Given the description of an element on the screen output the (x, y) to click on. 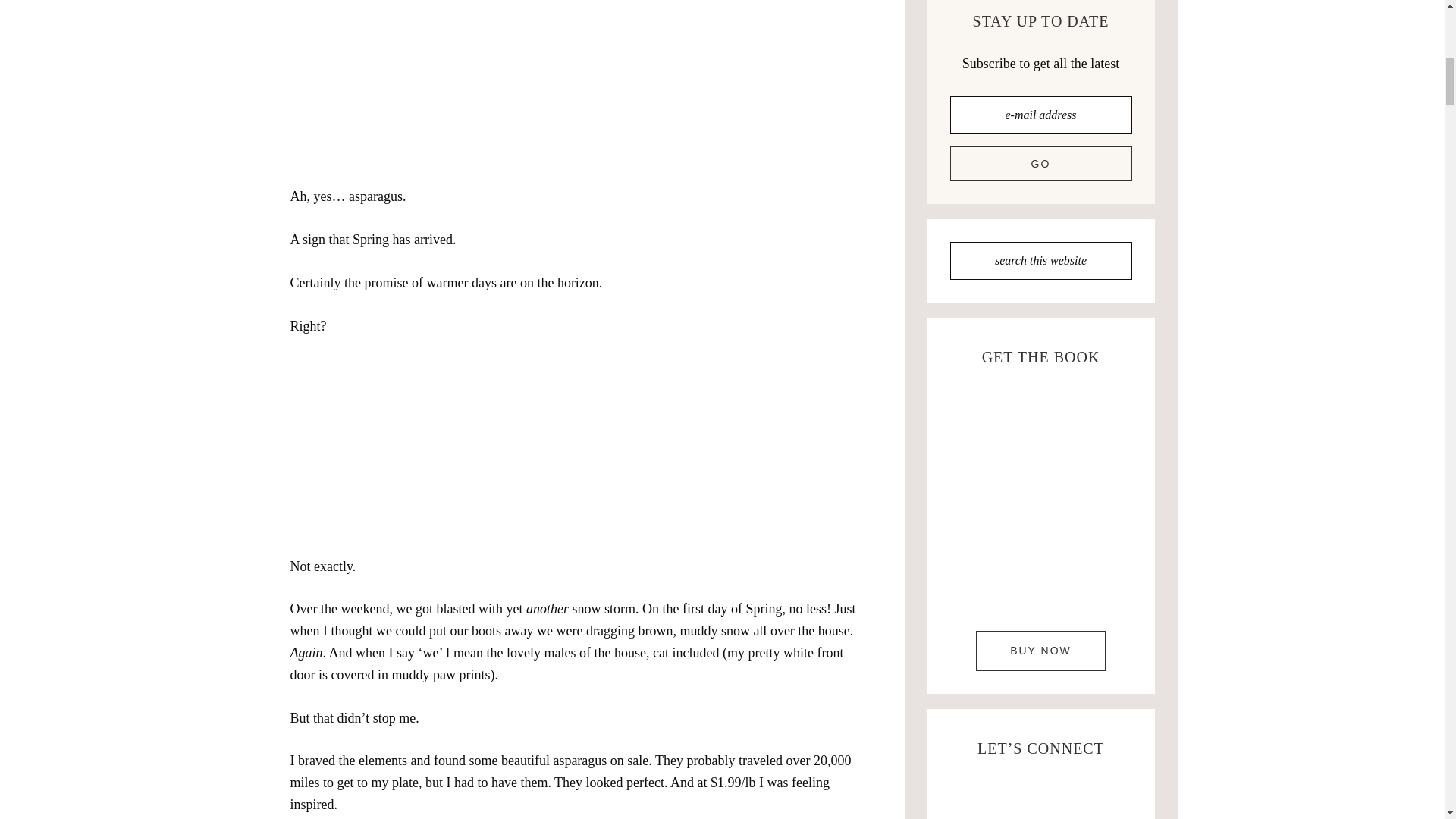
Go (1040, 163)
